Given the description of an element on the screen output the (x, y) to click on. 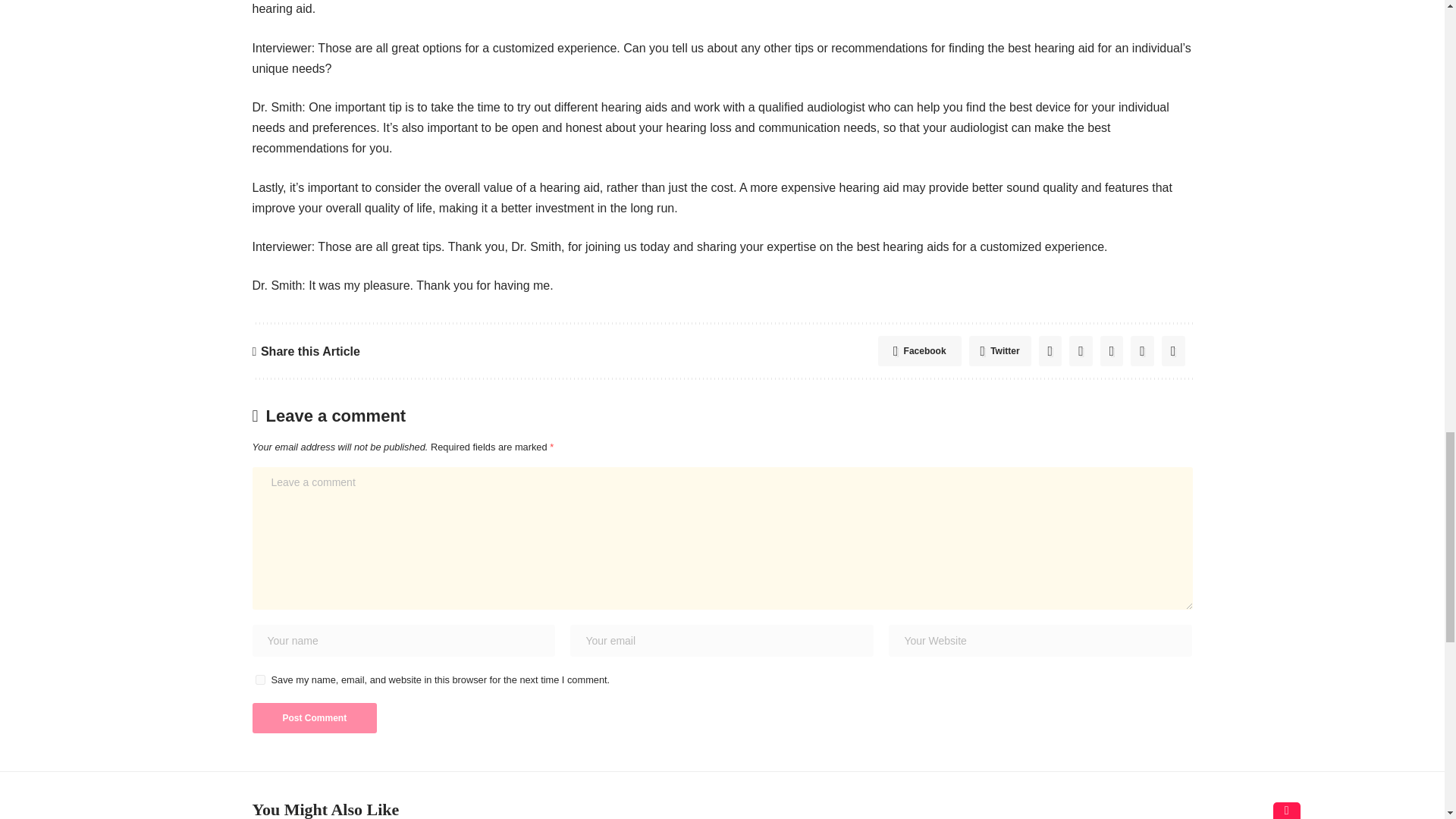
yes (259, 679)
Post Comment (314, 717)
